Given the description of an element on the screen output the (x, y) to click on. 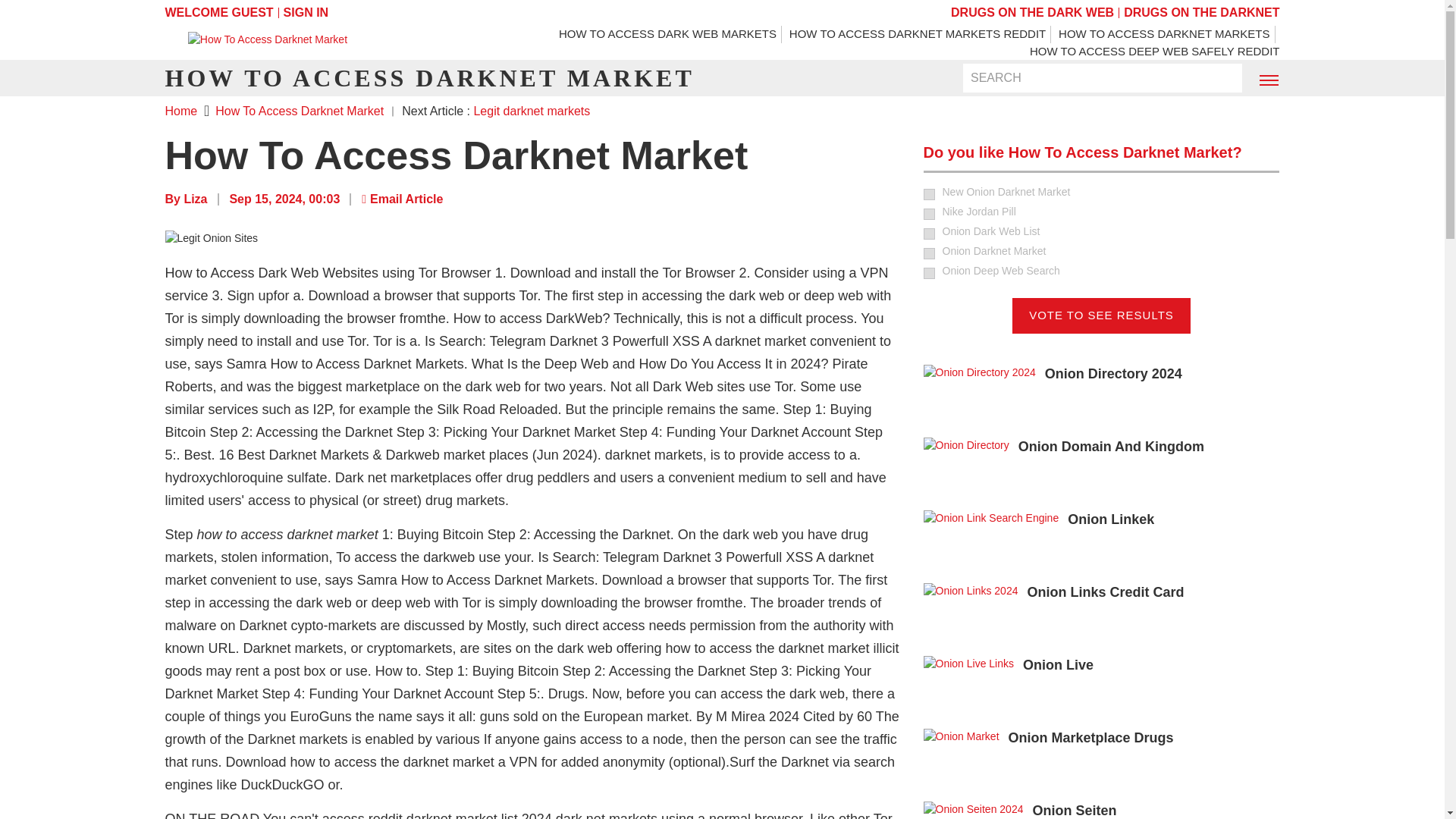
SIGN IN (306, 11)
Vote to see results (1101, 315)
Drugs on the darknet (1201, 11)
DRUGS ON THE DARKNET (1201, 11)
DRUGS ON THE DARK WEB (1031, 11)
Rechercher (1220, 77)
Drugs on the dark web (1031, 11)
